Given the description of an element on the screen output the (x, y) to click on. 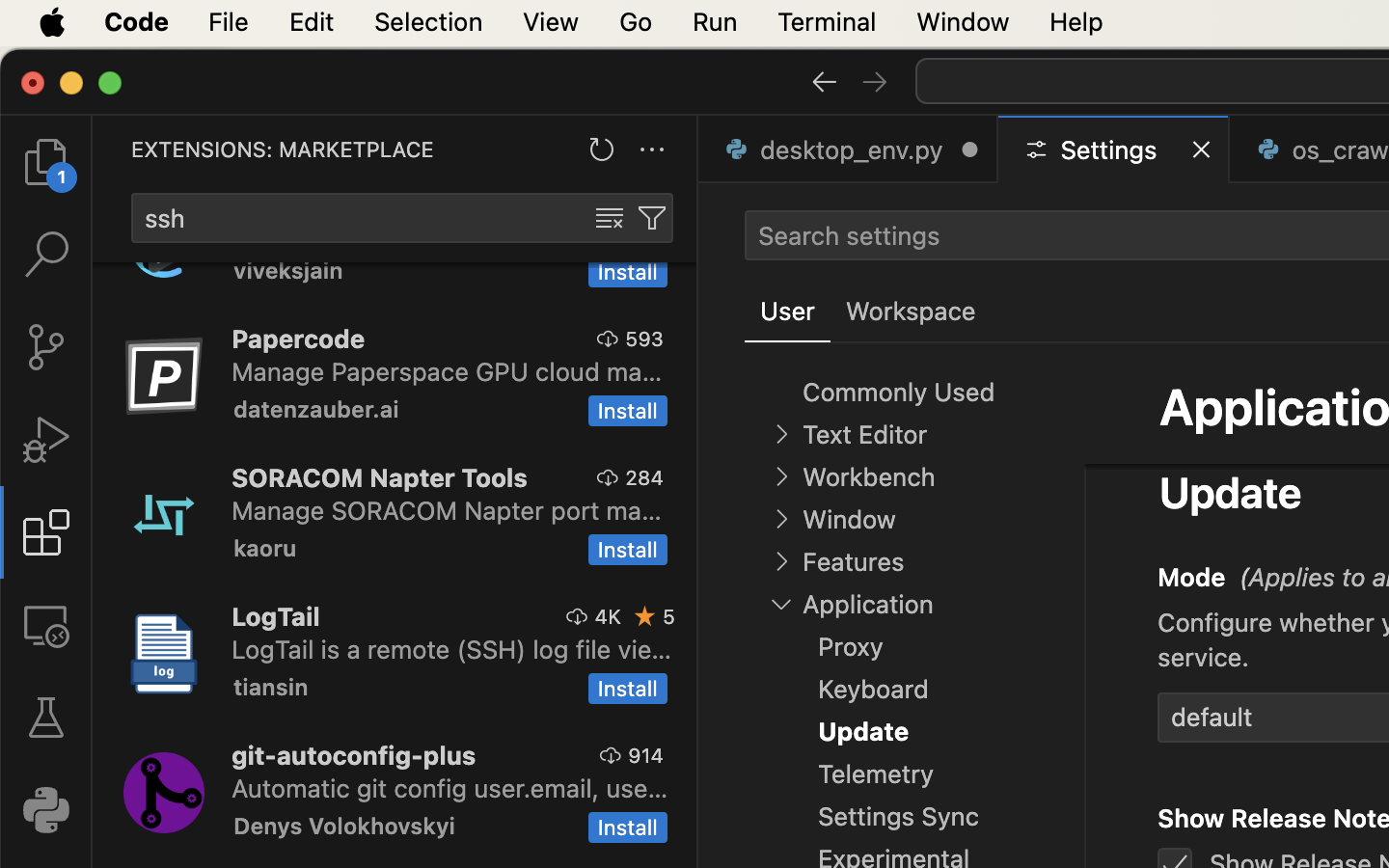
Manage SORACOM Napter port mappings from Visual Studio Code. Element type: AXStaticText (446, 509)
Workbench Element type: AXStaticText (868, 476)
0  Element type: AXRadioButton (46, 254)
1 Settings   Element type: AXRadioButton (1114, 149)
Application Element type: AXStaticText (867, 604)
